Given the description of an element on the screen output the (x, y) to click on. 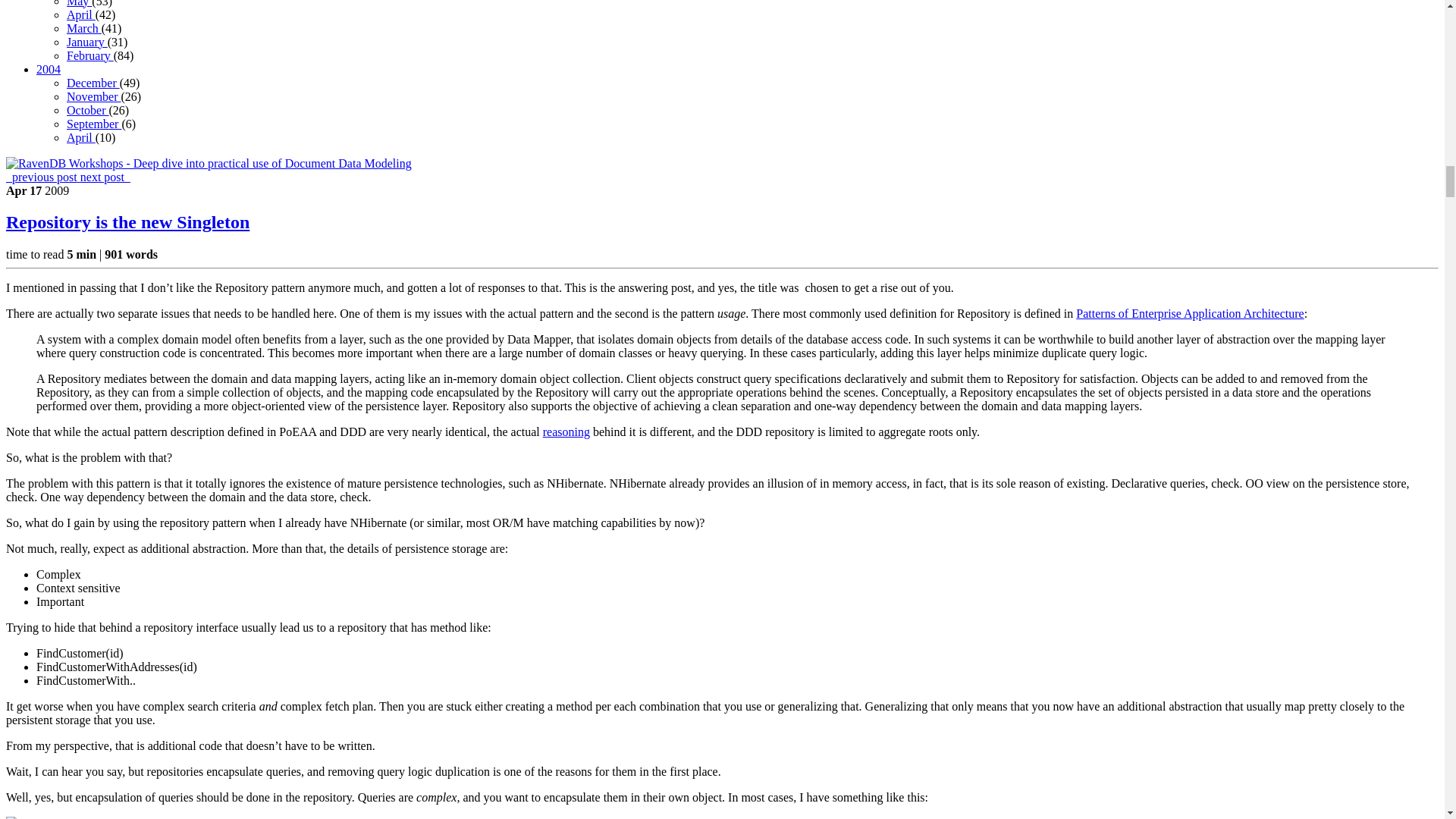
image (26, 817)
